Given the description of an element on the screen output the (x, y) to click on. 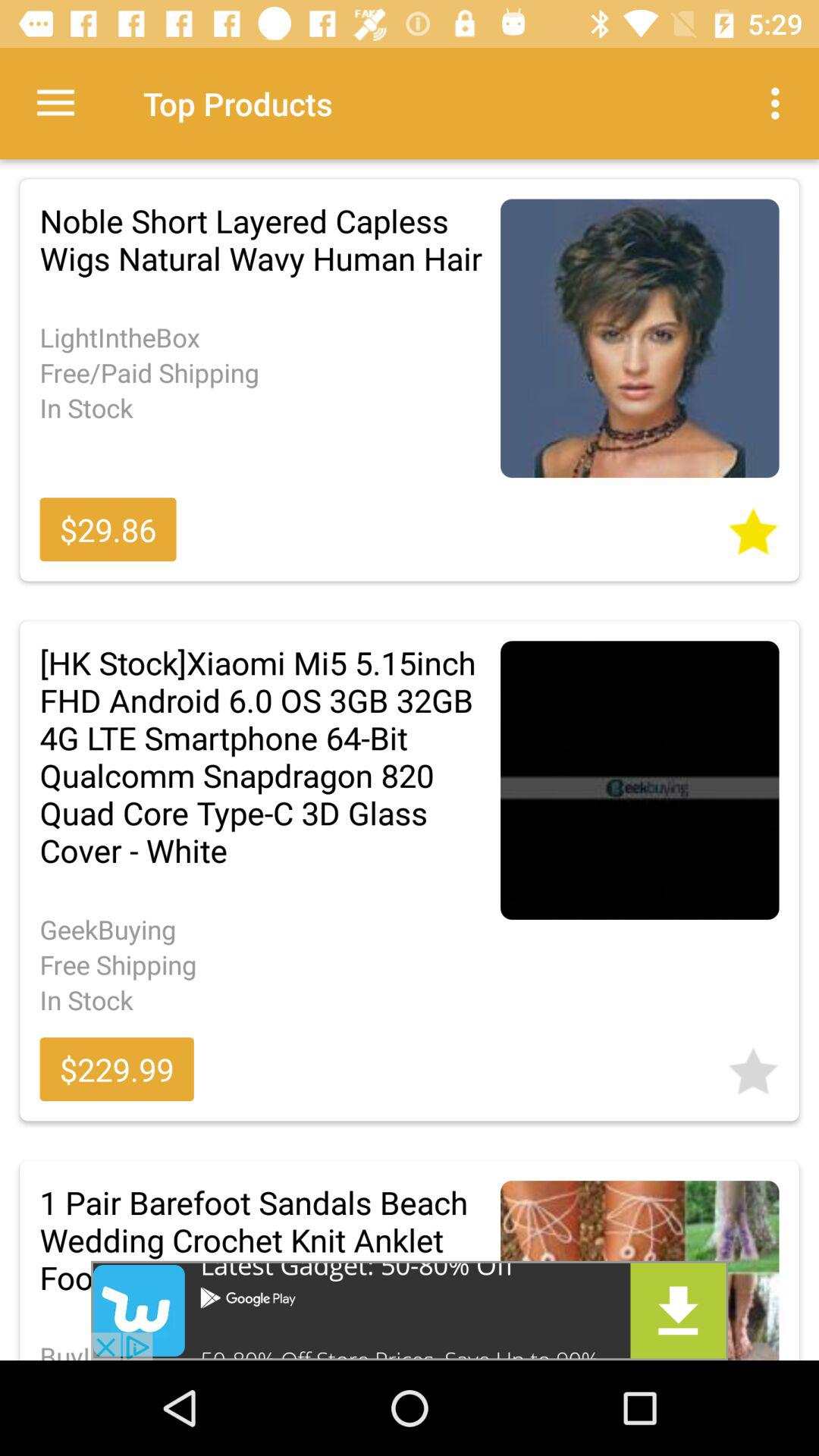
bookmark (753, 526)
